Given the description of an element on the screen output the (x, y) to click on. 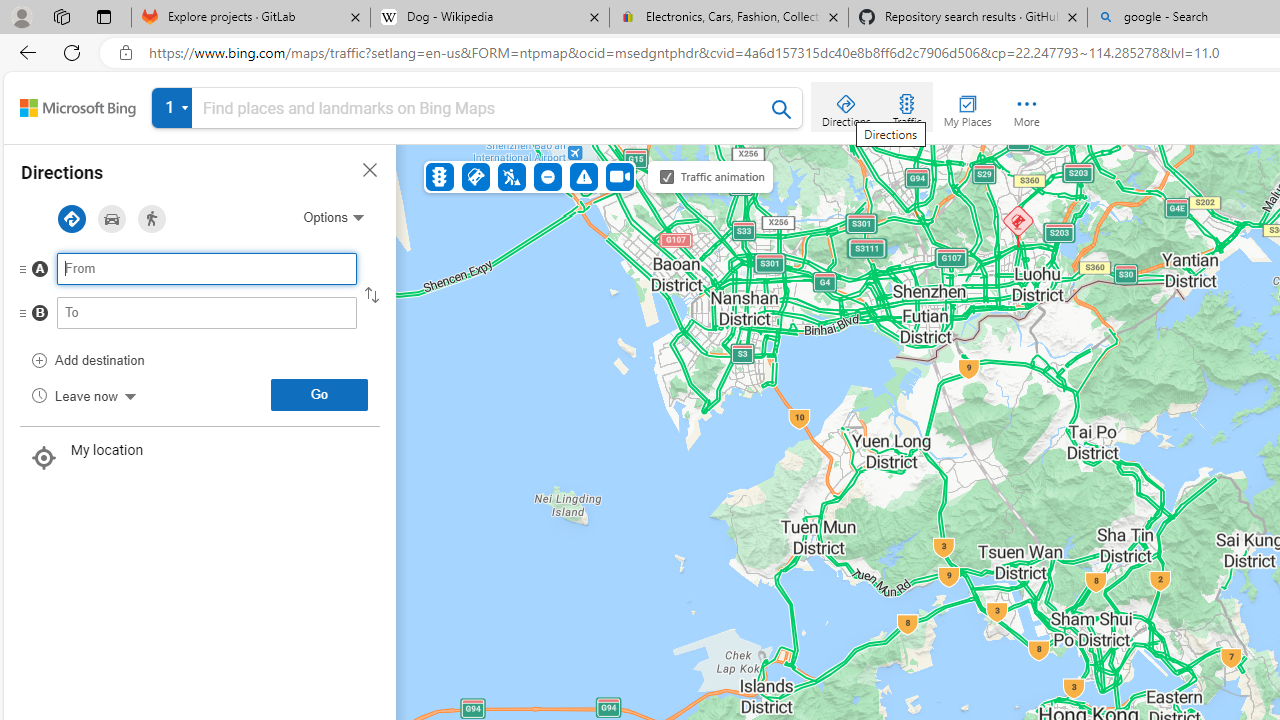
Go (319, 394)
Driving (111, 219)
Class: sbElement (77, 107)
Traffic (440, 176)
 View all your searches (172, 107)
Leave now (83, 394)
Road Closures (547, 176)
Directions (846, 106)
My Places (967, 106)
My location, item 1 (200, 458)
Electronics, Cars, Fashion, Collectibles & More | eBay (729, 17)
Miscellaneous incidents (583, 176)
